Given the description of an element on the screen output the (x, y) to click on. 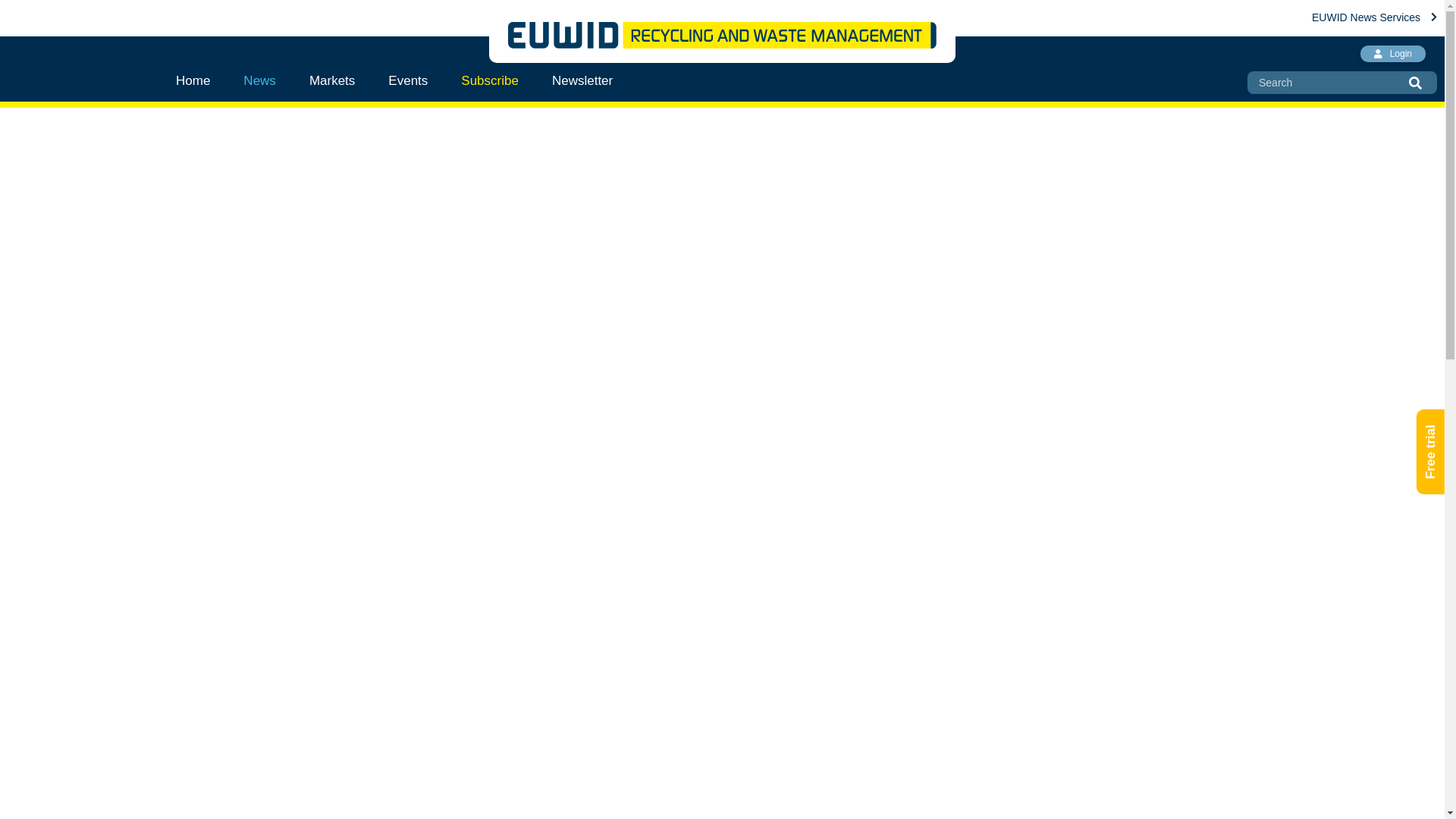
Events (407, 80)
Newsletter (581, 80)
Home (201, 80)
News (259, 80)
Login (1392, 53)
Subscribe (489, 80)
Markets (331, 80)
EUWID News Services (1374, 17)
